Given the description of an element on the screen output the (x, y) to click on. 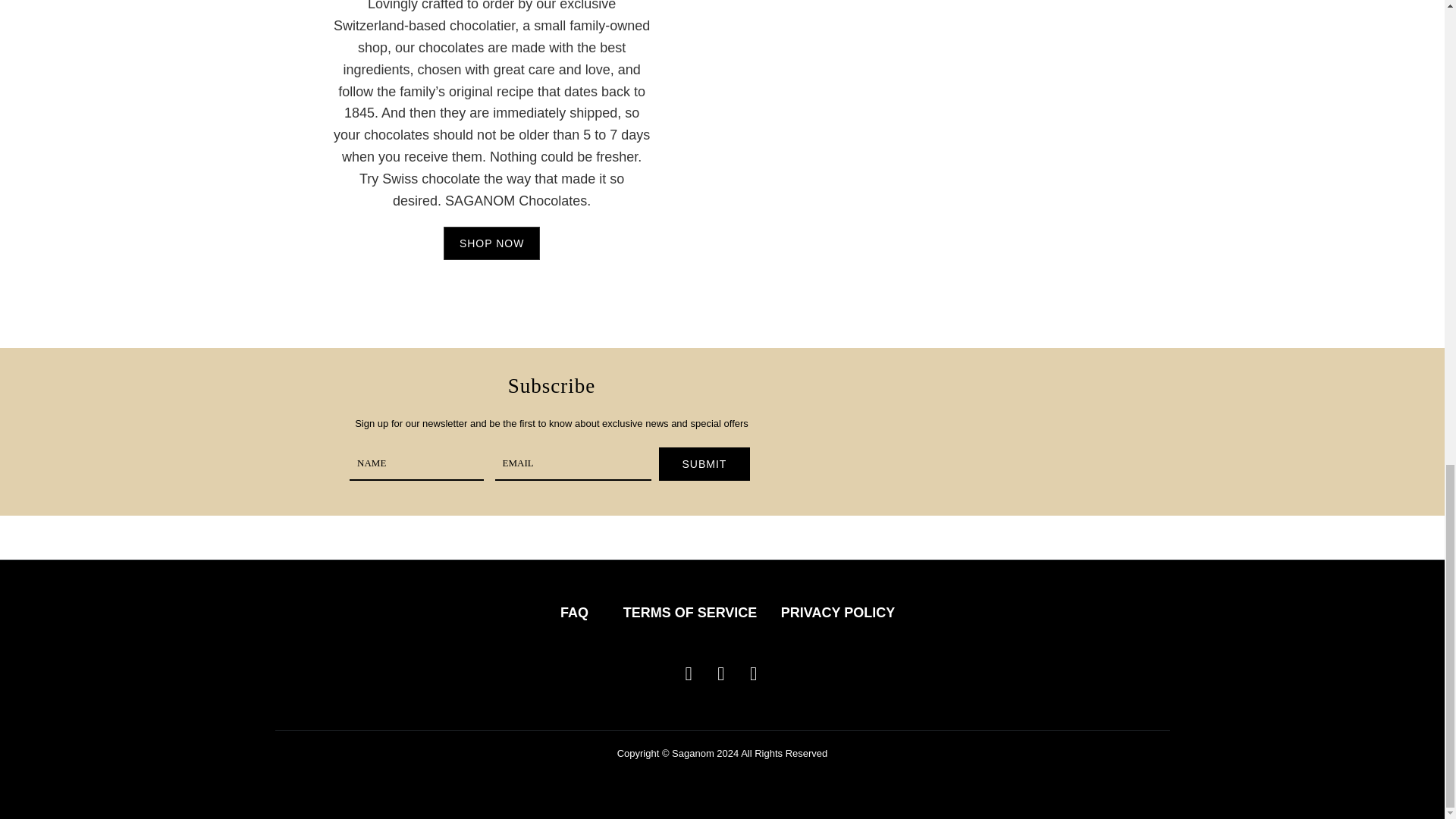
TERMS OF SERVICE (690, 612)
SUBMIT (704, 463)
SAGANOM on Facebook (722, 673)
SUBMIT (704, 463)
SHOP NOW (492, 243)
PRIVACY POLICY (837, 612)
SAGANOM on Pinterest (754, 673)
FAQ (574, 612)
SAGANOM on Instagram (689, 673)
